Given the description of an element on the screen output the (x, y) to click on. 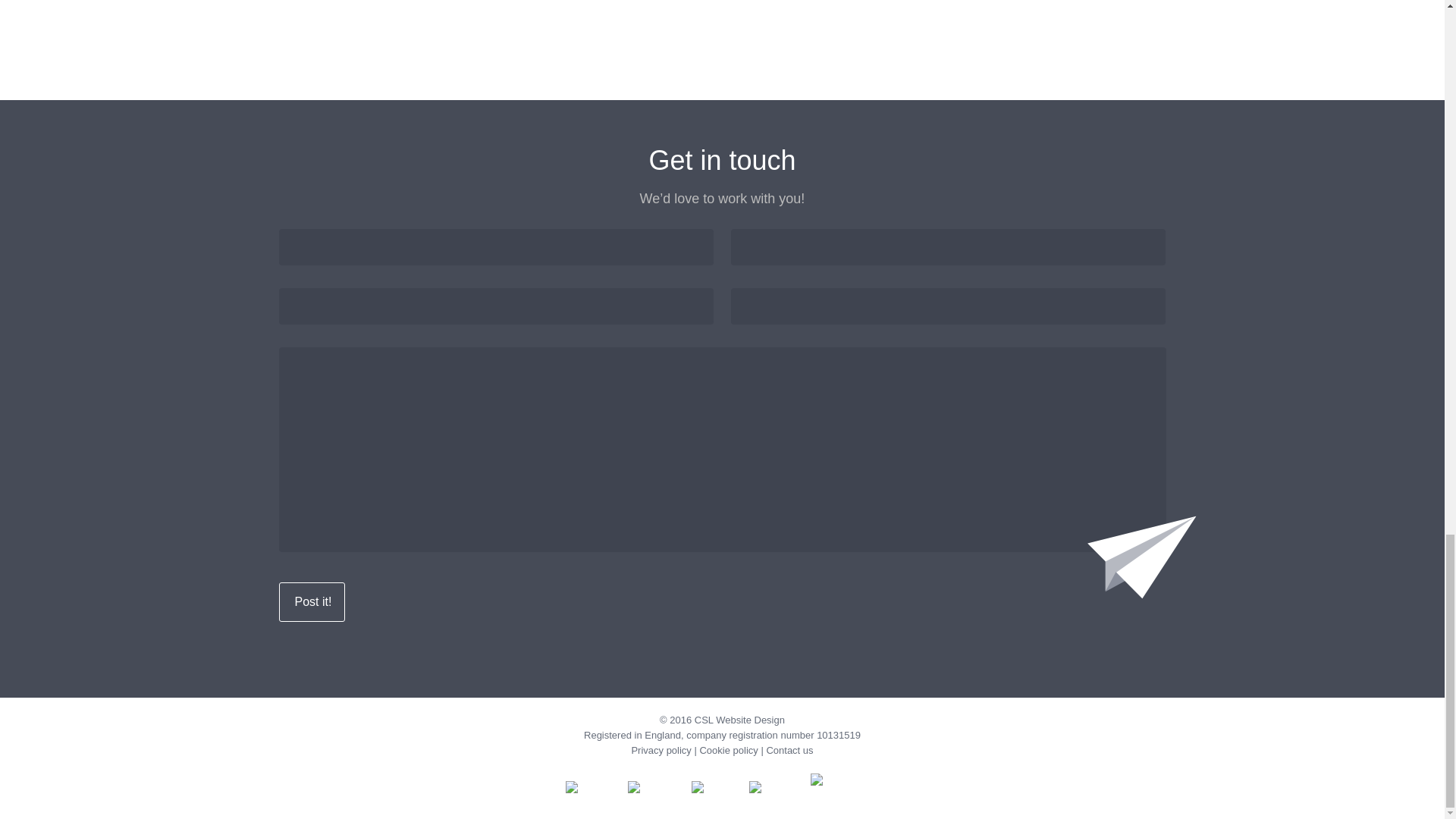
Post it! (312, 601)
Post it! (312, 601)
Contact us (788, 749)
Privacy policy (660, 749)
Cookie policy (727, 749)
